Given the description of an element on the screen output the (x, y) to click on. 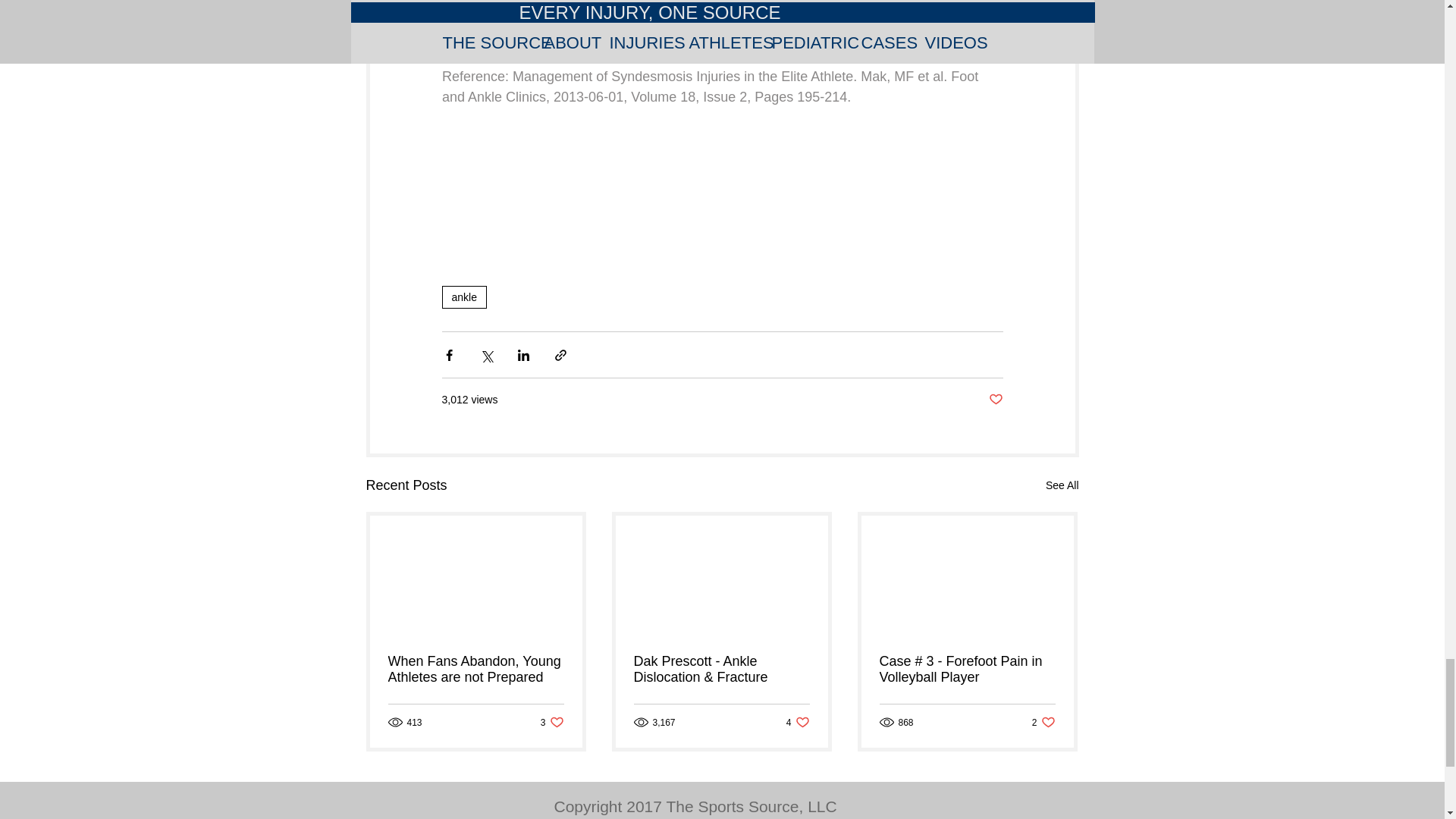
Post not marked as liked (995, 399)
When Fans Abandon, Young Athletes are not Prepared (797, 721)
See All (476, 669)
Management of Syndesmosis Injuries in the Elite Athlete. (1061, 485)
ankle (1043, 721)
